Given the description of an element on the screen output the (x, y) to click on. 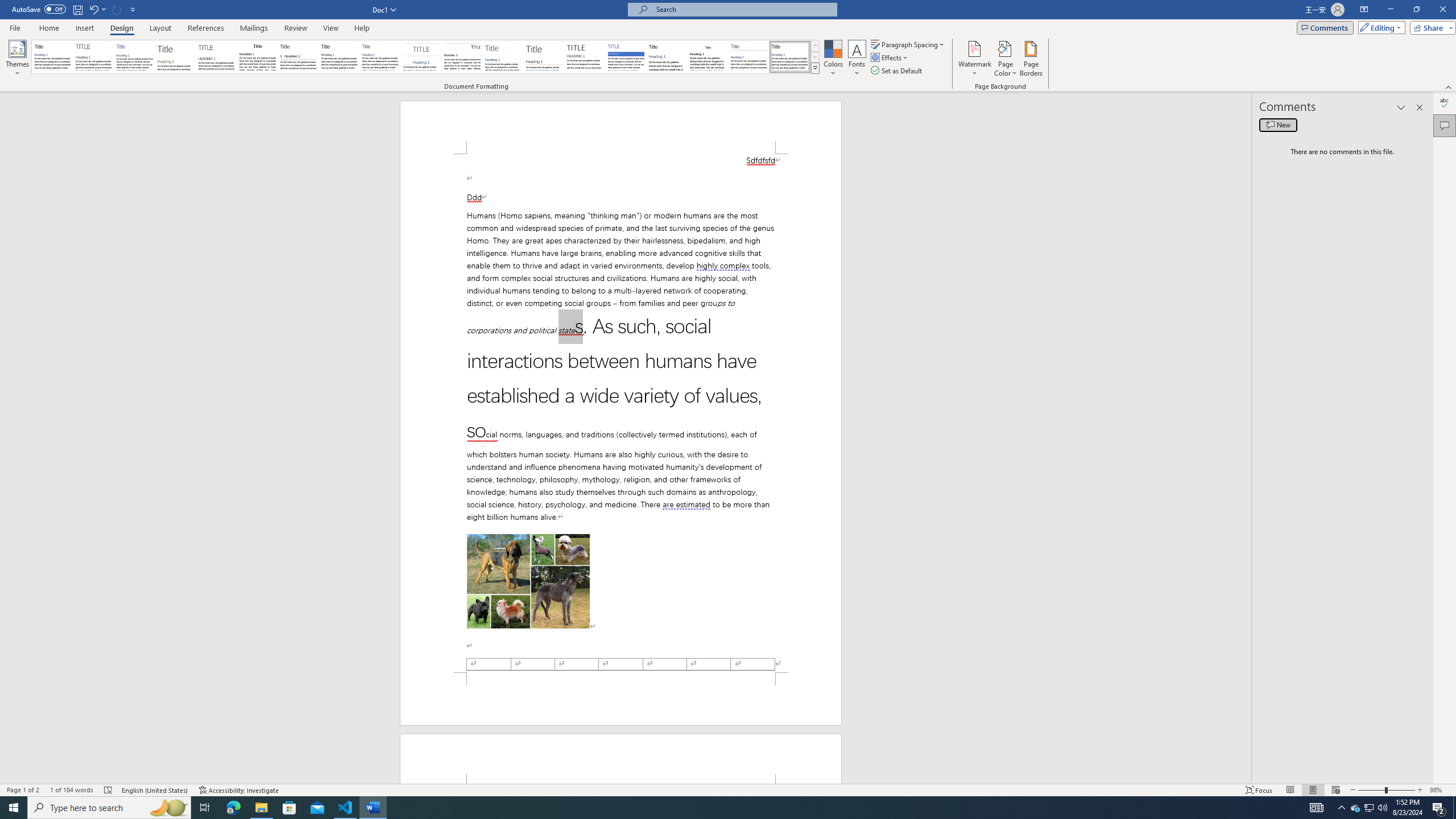
Footer -Section 1- (620, 698)
Microsoft search (742, 9)
Shaded (625, 56)
Spelling and Grammar Check Errors (108, 790)
Watermark (974, 58)
Effects (890, 56)
Fonts (856, 58)
Centered (421, 56)
Word 2010 (749, 56)
